Given the description of an element on the screen output the (x, y) to click on. 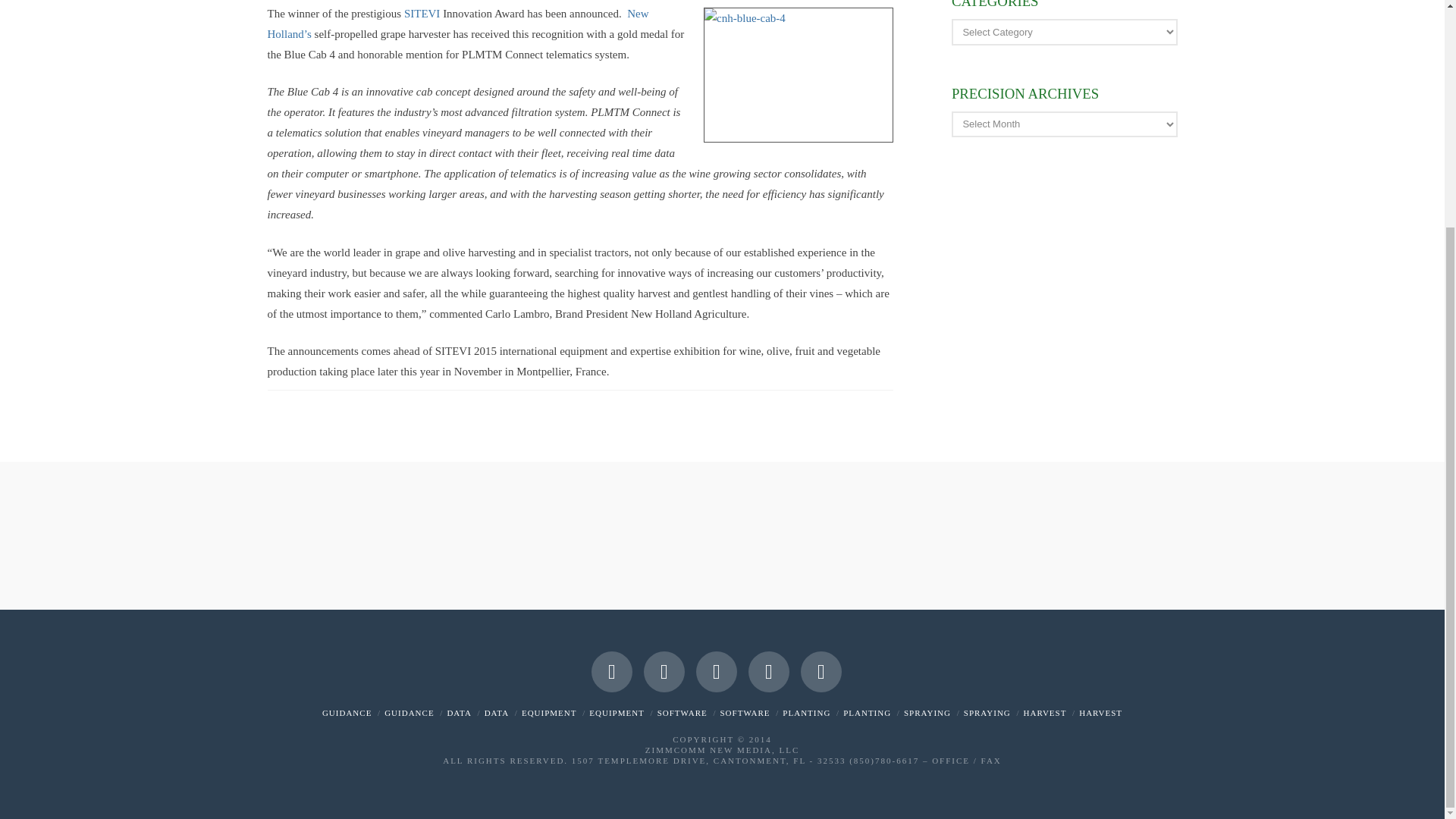
SOFTWARE (745, 712)
Twitter (663, 671)
DATA (458, 712)
Facebook (611, 671)
SOFTWARE (682, 712)
DATA (496, 712)
EQUIPMENT (548, 712)
SITEVI (422, 13)
GUIDANCE (408, 712)
Flickr (768, 671)
YouTube (715, 671)
GUIDANCE (346, 712)
RSS (820, 671)
EQUIPMENT (617, 712)
